Given the description of an element on the screen output the (x, y) to click on. 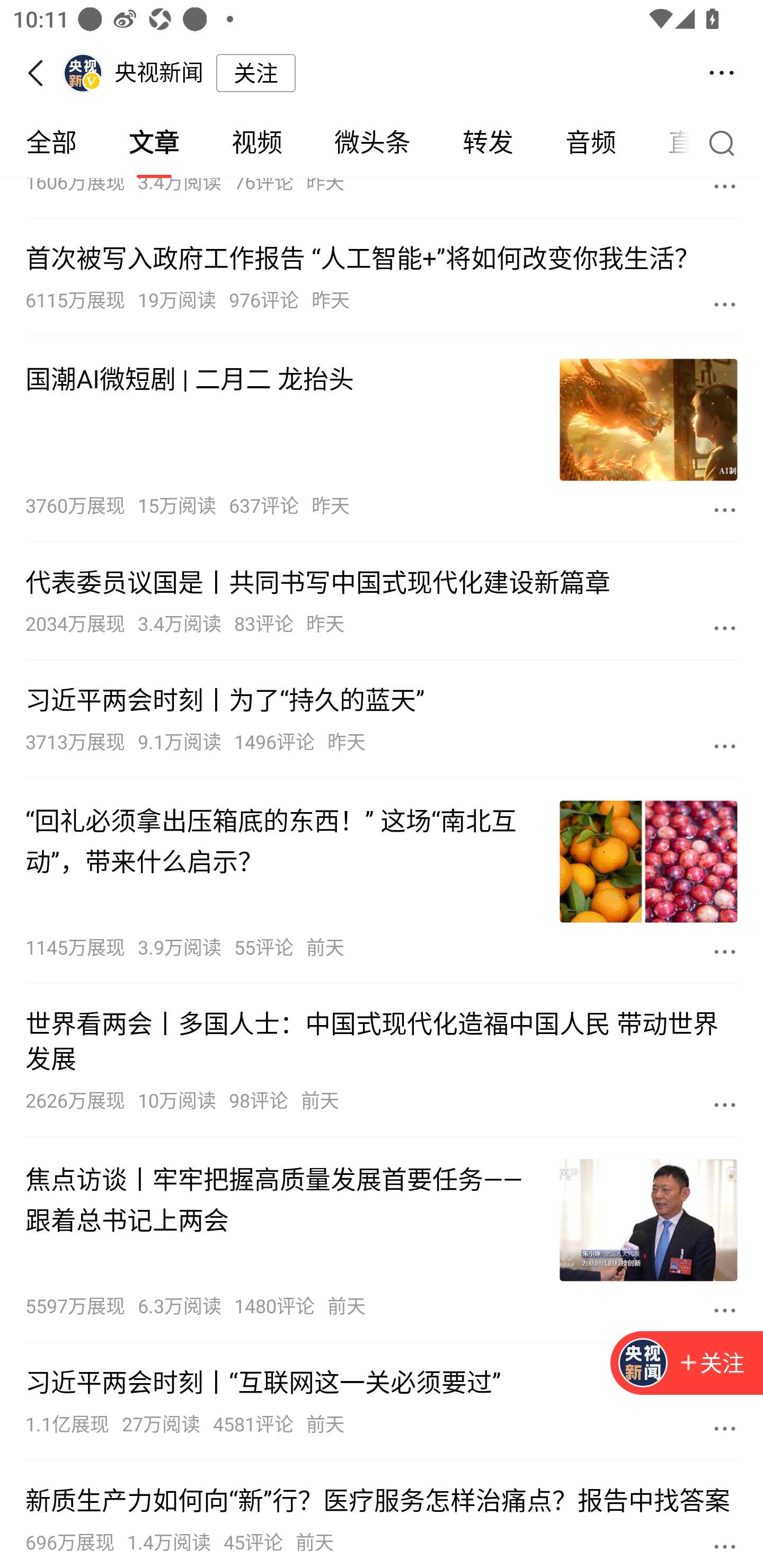
返回 (41, 72)
更多操作 (721, 72)
关注 (255, 72)
全部 (51, 143)
文章 (154, 143)
视频 (256, 143)
微头条 (372, 143)
转发 (487, 143)
音频 (590, 143)
搜索 (726, 142)
更多 (724, 188)
更多 (724, 303)
更多 (724, 509)
更多 (724, 626)
更多 (724, 745)
更多 (724, 951)
更多 (724, 1103)
更多 (724, 1309)
    关注 (686, 1363)
    关注 (711, 1363)
更多 (724, 1427)
更多 (724, 1545)
